Given the description of an element on the screen output the (x, y) to click on. 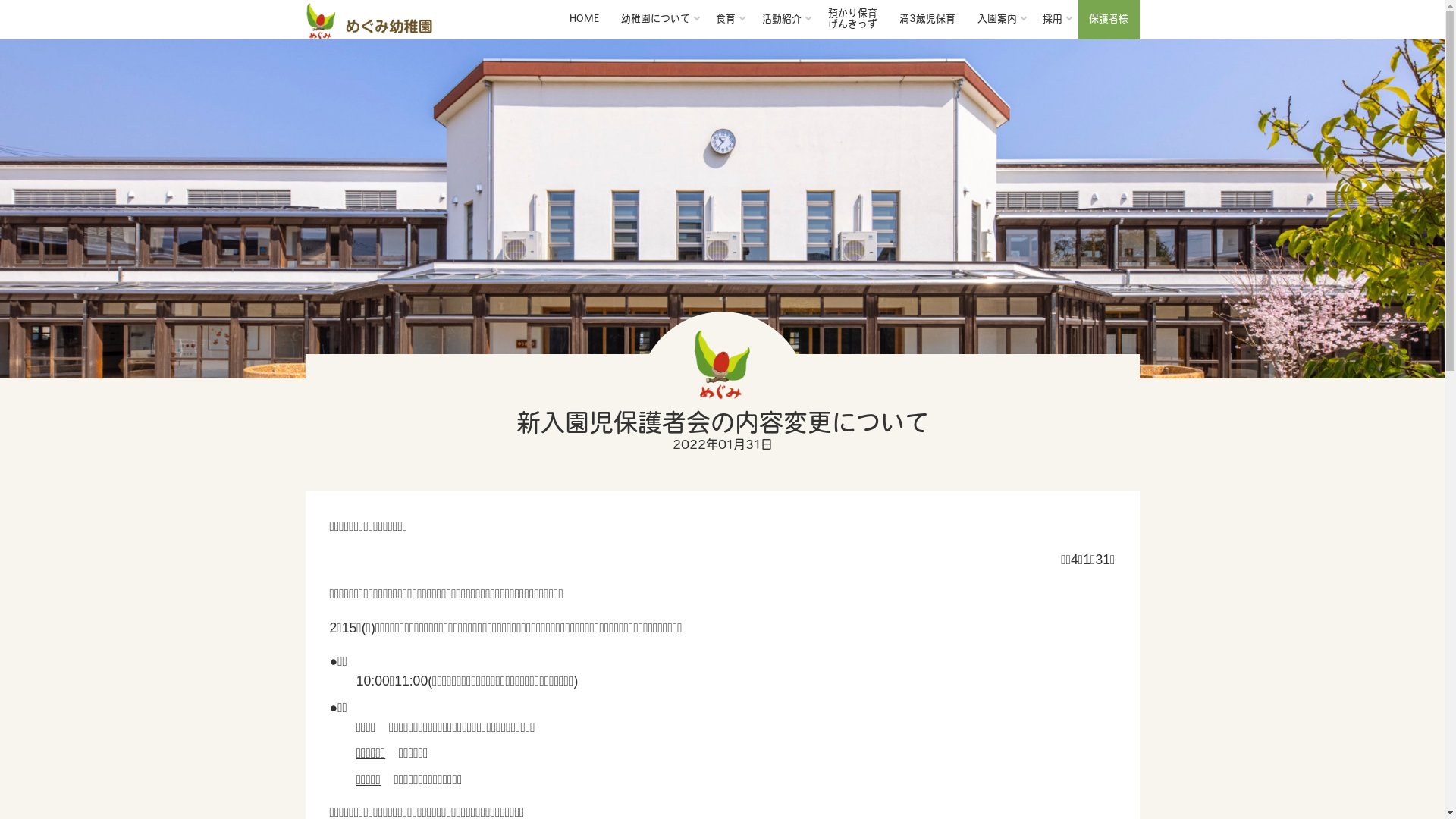
HOME Element type: text (583, 19)
